Given the description of an element on the screen output the (x, y) to click on. 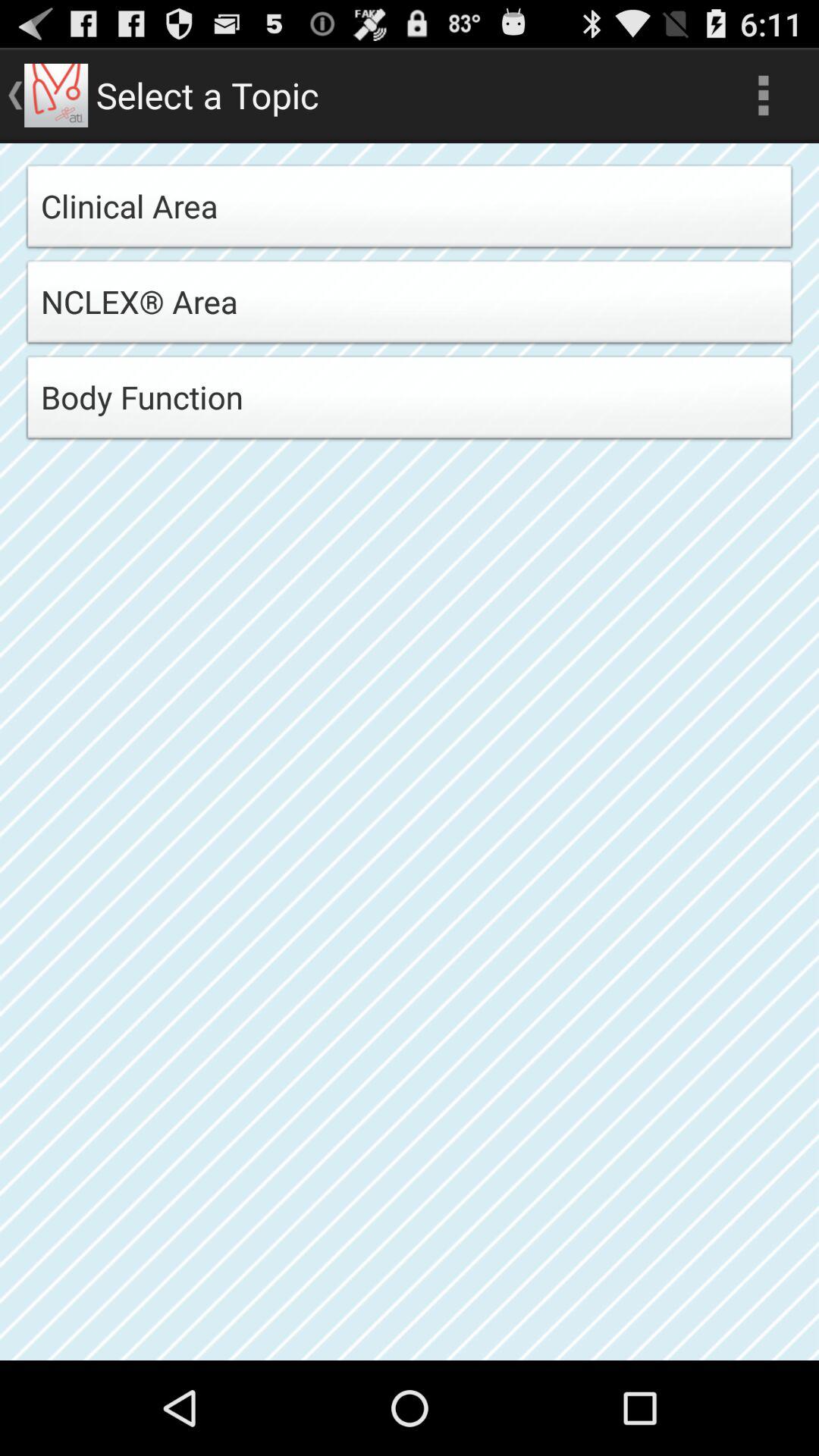
launch app to the right of select a topic app (763, 95)
